Given the description of an element on the screen output the (x, y) to click on. 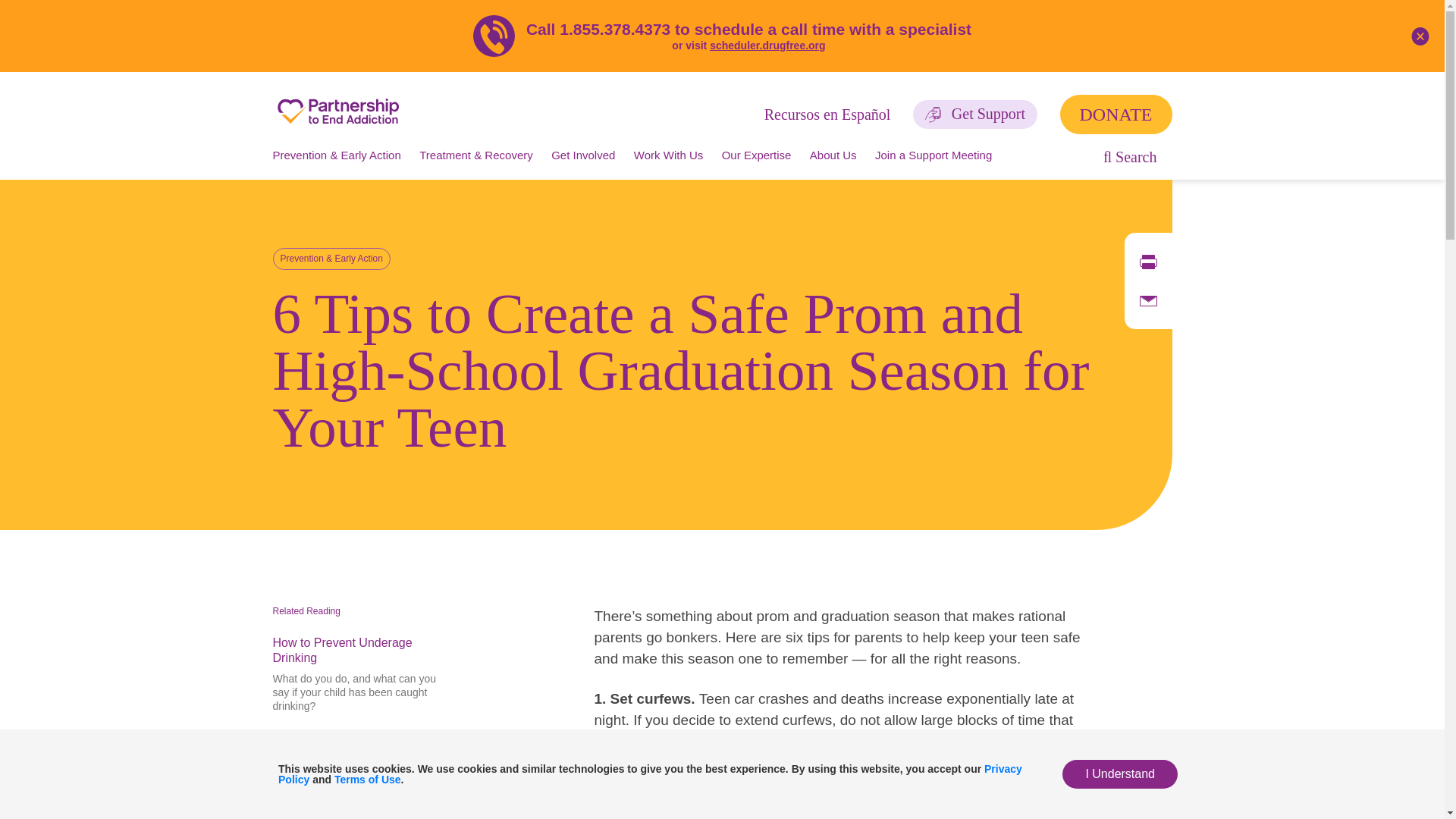
About Us (833, 154)
DONATE (1115, 114)
Search (1130, 156)
Get Support (974, 114)
Join a Support Meeting (933, 154)
scheduler.drugfree.org (767, 45)
Get Involved (582, 154)
Work With Us (668, 154)
Our Expertise (757, 154)
